Given the description of an element on the screen output the (x, y) to click on. 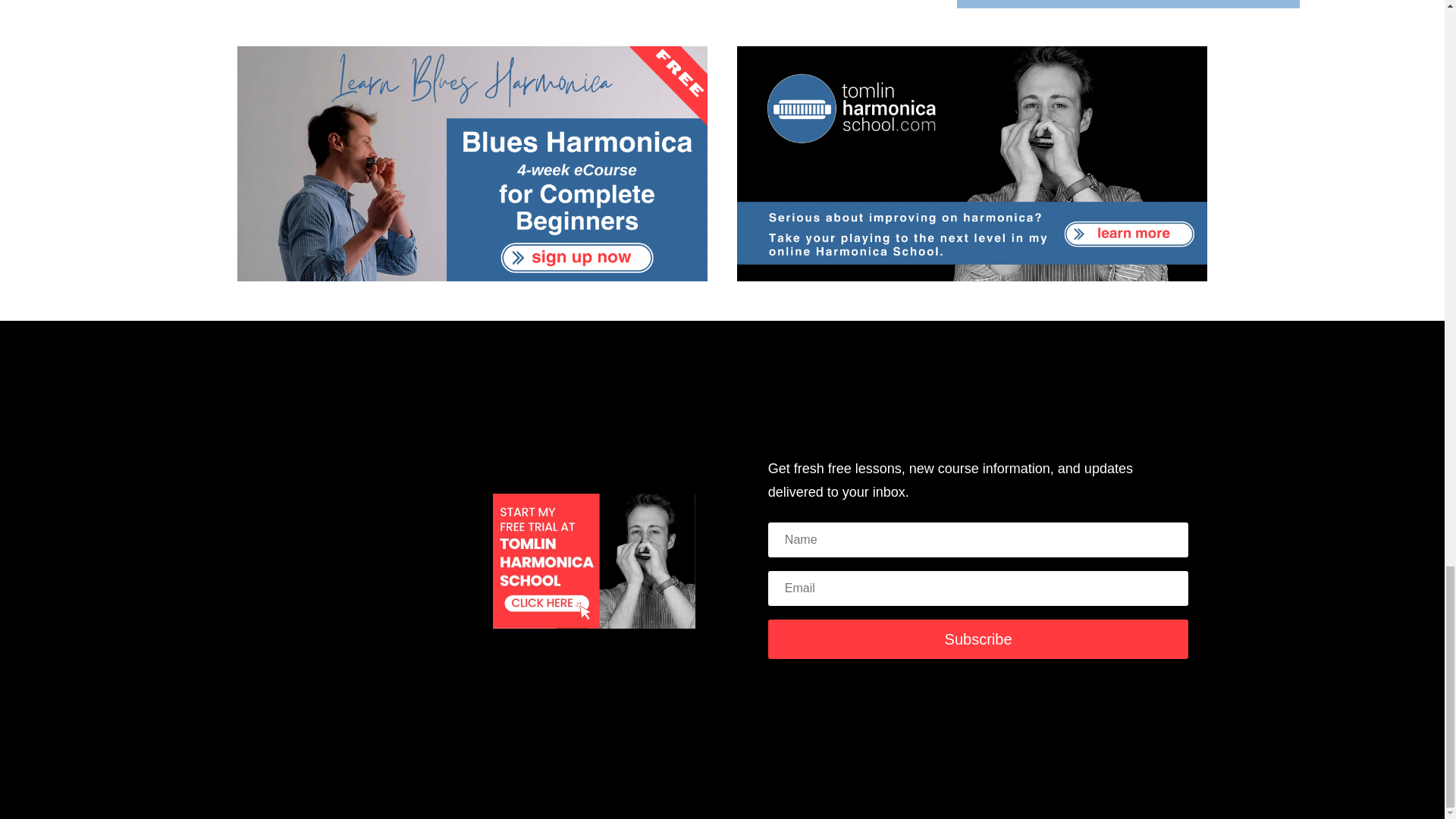
Tomlin Harmonica School 2400p (972, 163)
Learn Blues Harmonica 2400p (471, 163)
